Given the description of an element on the screen output the (x, y) to click on. 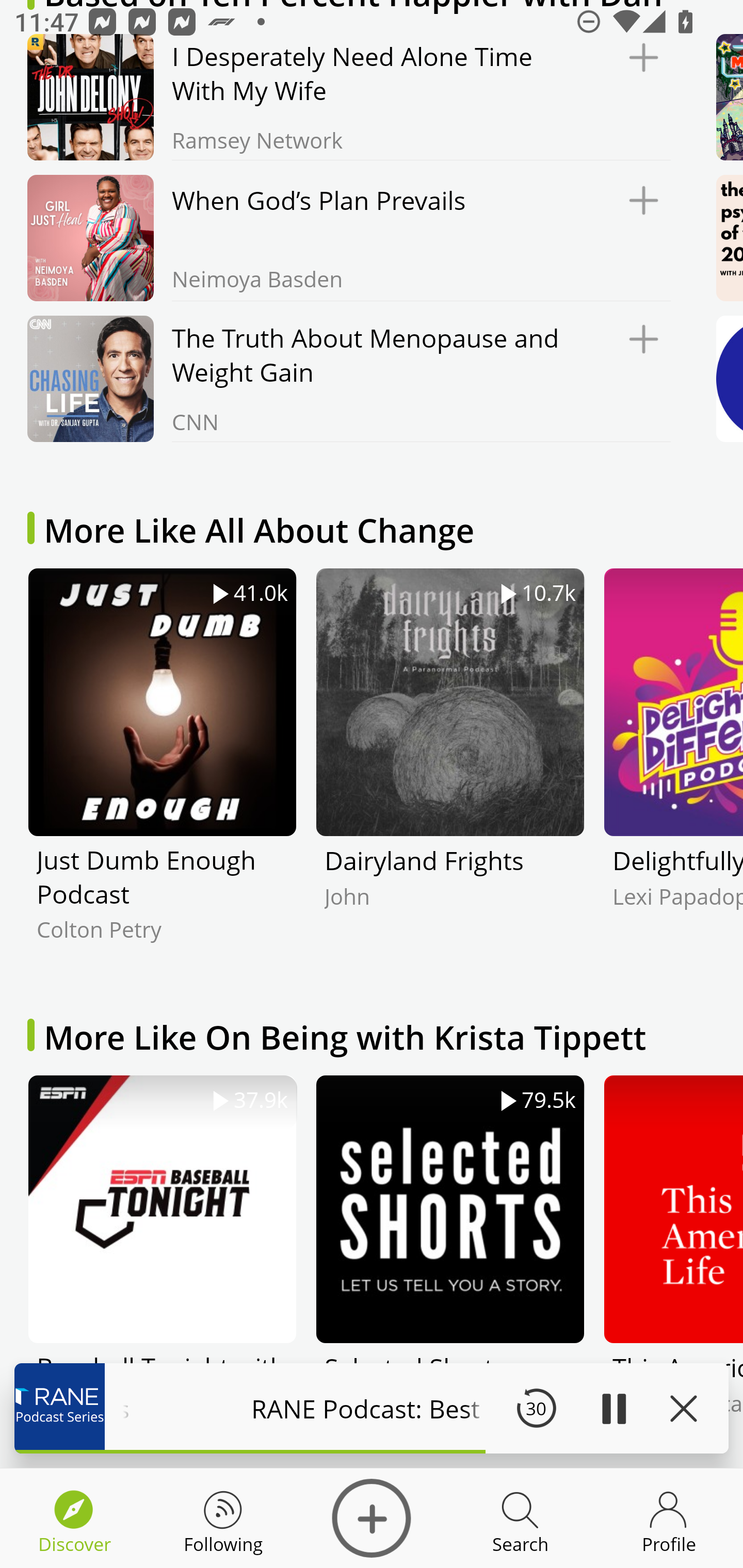
When God’s Plan Prevails Neimoya Basden (344, 238)
The Truth About Menopause and Weight Gain CNN (344, 378)
41.0k Just Dumb Enough Podcast Colton Petry (162, 769)
10.7k Dairyland Frights John (450, 769)
79.5k Selected Shorts Symphony Space (450, 1270)
Play (613, 1407)
30 Seek Backward (536, 1407)
Discover Following (222, 1518)
Discover (371, 1518)
Discover Search (519, 1518)
Discover Profile (668, 1518)
